Given the description of an element on the screen output the (x, y) to click on. 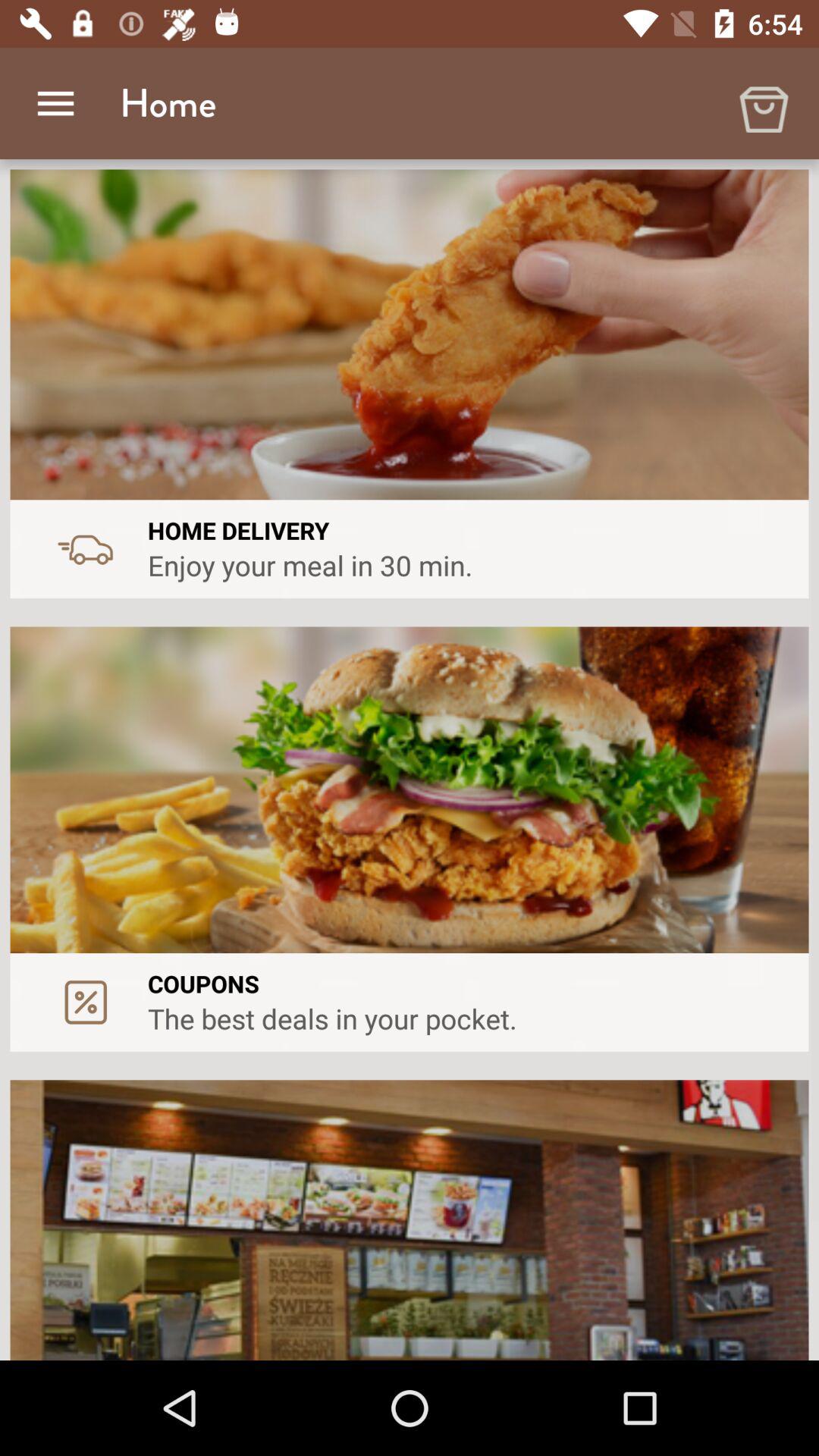
open app next to the home app (55, 103)
